Given the description of an element on the screen output the (x, y) to click on. 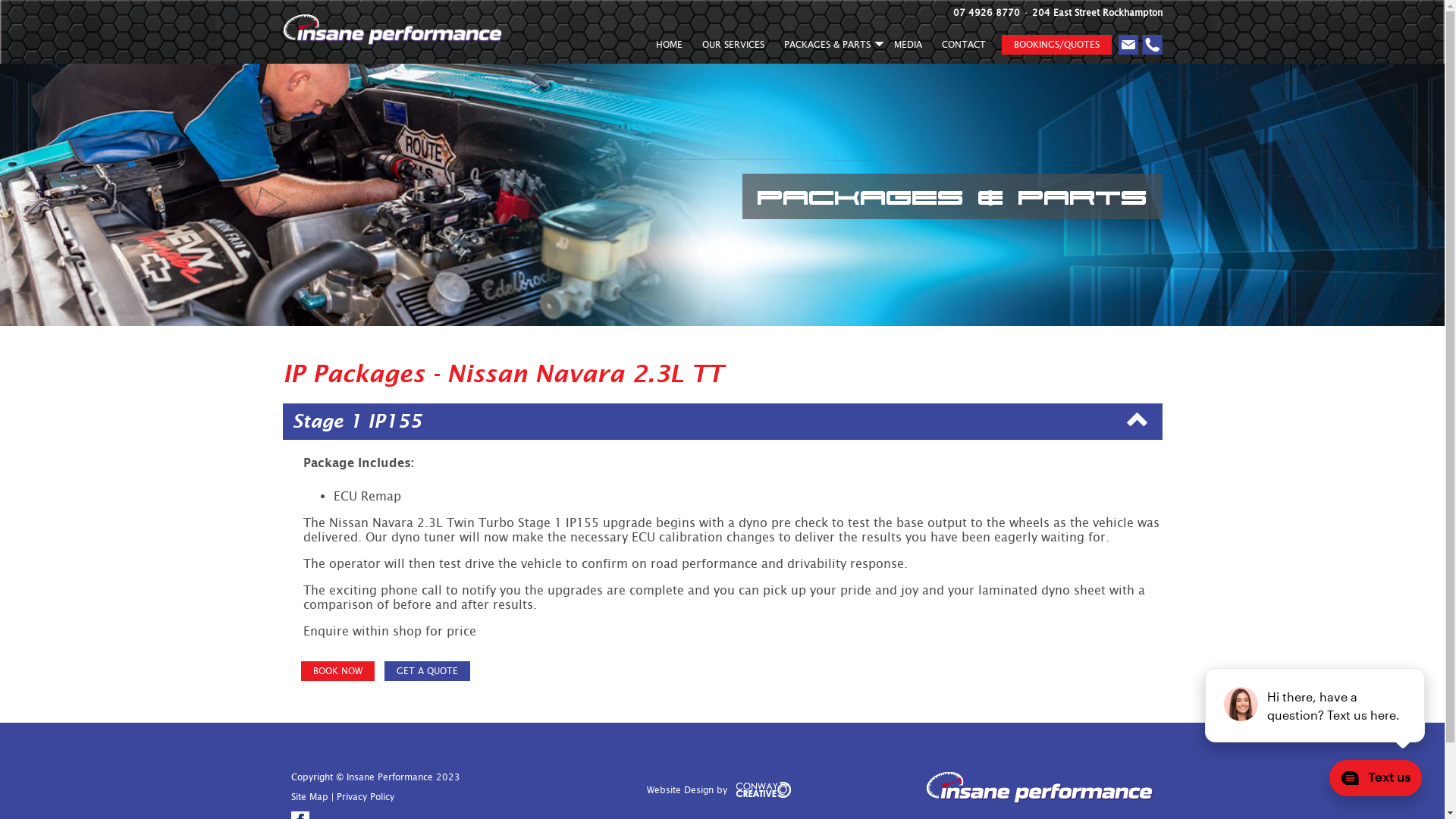
BOOKINGS/QUOTES Element type: text (1055, 44)
Site Map Element type: text (309, 796)
BOOK NOW Element type: text (336, 670)
OUR SERVICES Element type: text (732, 47)
CONTACT Element type: text (962, 47)
MEDIA Element type: text (907, 47)
Website Design by Element type: text (721, 794)
PACKAGES & PARTS Element type: text (828, 47)
GET A QUOTE Element type: text (426, 670)
HOME Element type: text (669, 47)
podium webchat widget prompt Element type: hover (1315, 705)
Privacy Policy Element type: text (365, 796)
